Given the description of an element on the screen output the (x, y) to click on. 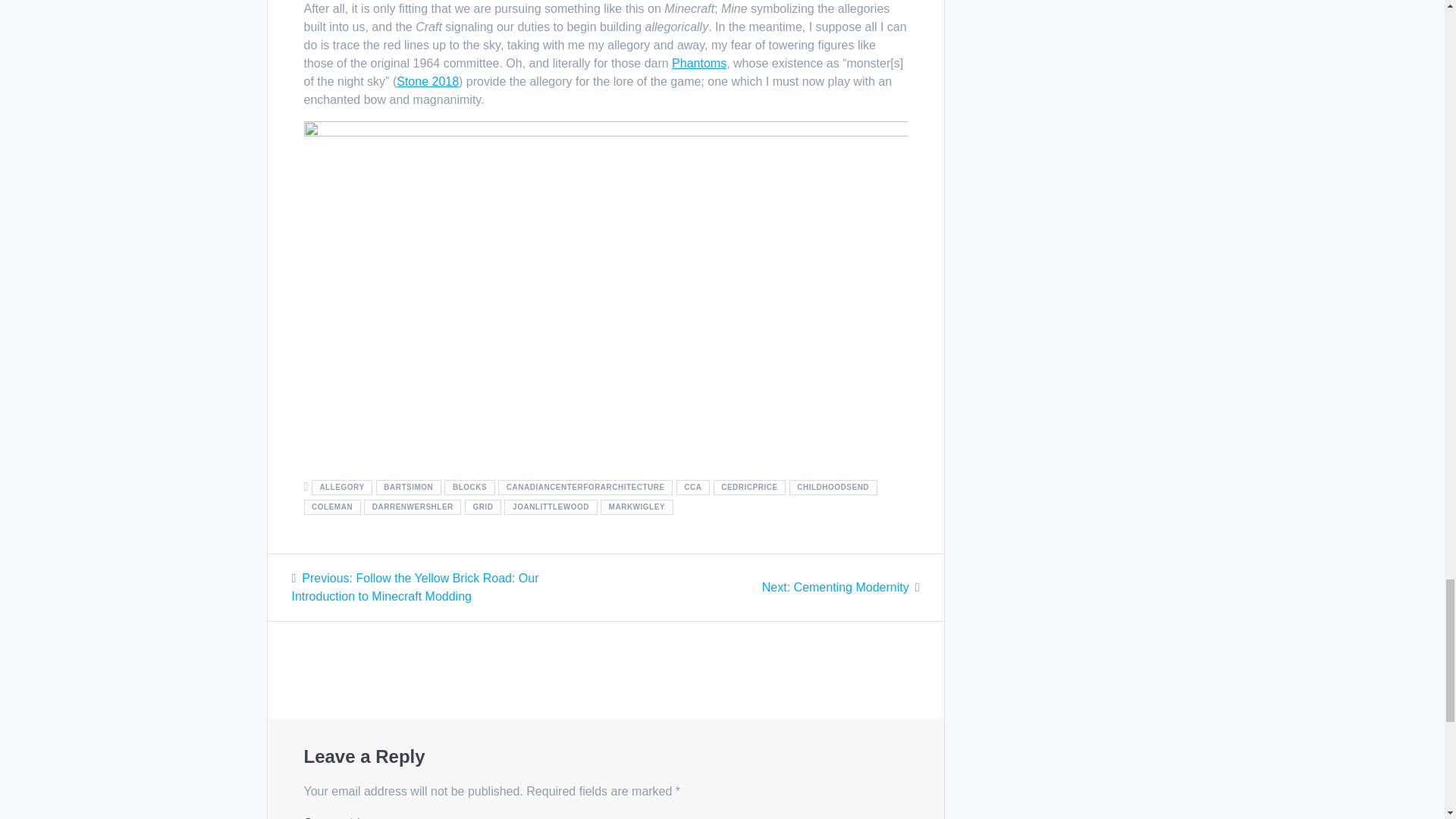
JOANLITTLEWOOD (549, 506)
COLEMAN (330, 506)
GRID (482, 506)
CCA (693, 486)
CHILDHOODSEND (833, 486)
BARTSIMON (408, 486)
CANADIANCENTERFORARCHITECTURE (584, 486)
BLOCKS (469, 486)
Phantoms (698, 62)
Stone 2018 (427, 81)
